Given the description of an element on the screen output the (x, y) to click on. 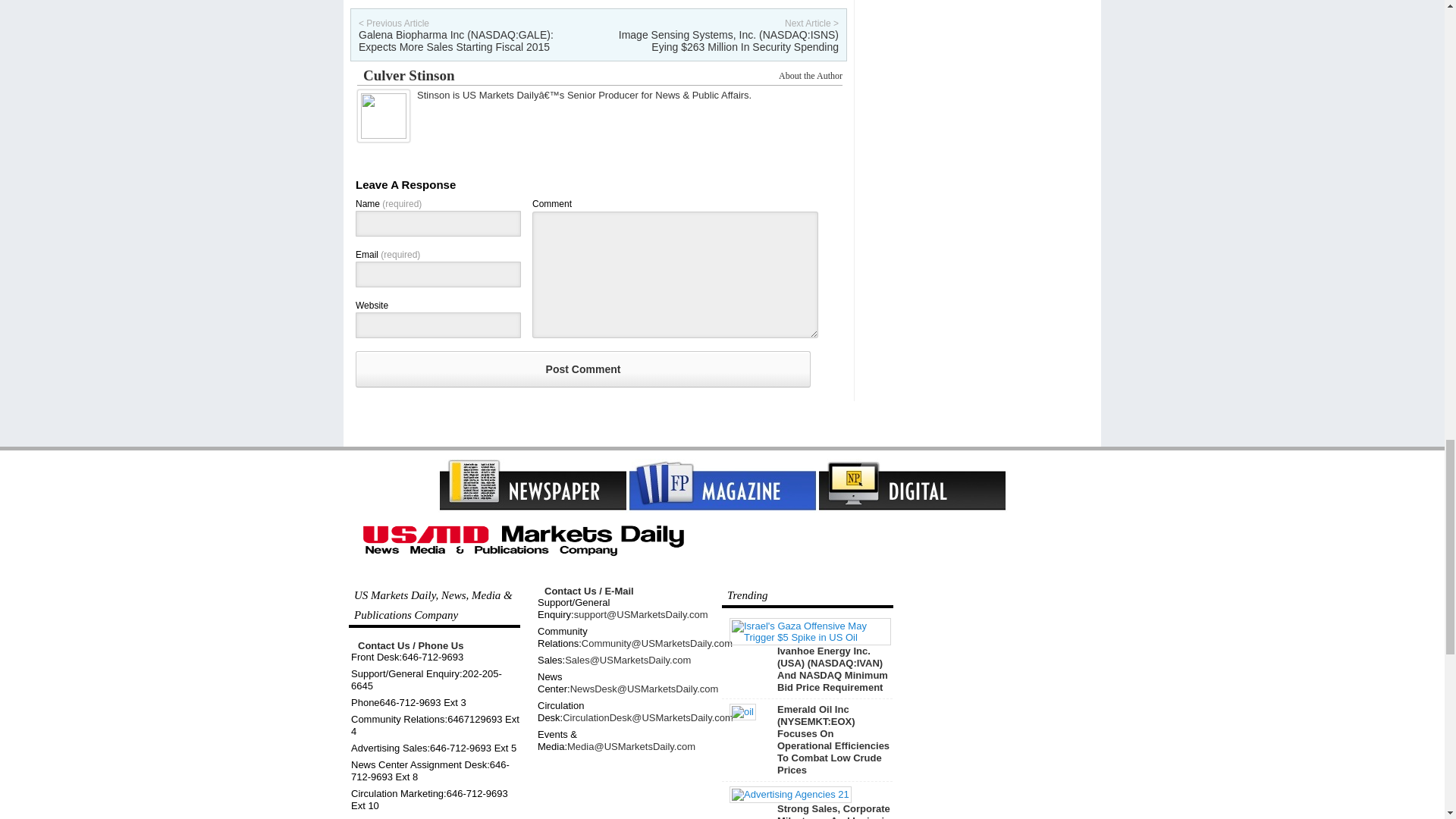
Posts by Culver Stinson (408, 75)
 Post Comment  (582, 369)
